Given the description of an element on the screen output the (x, y) to click on. 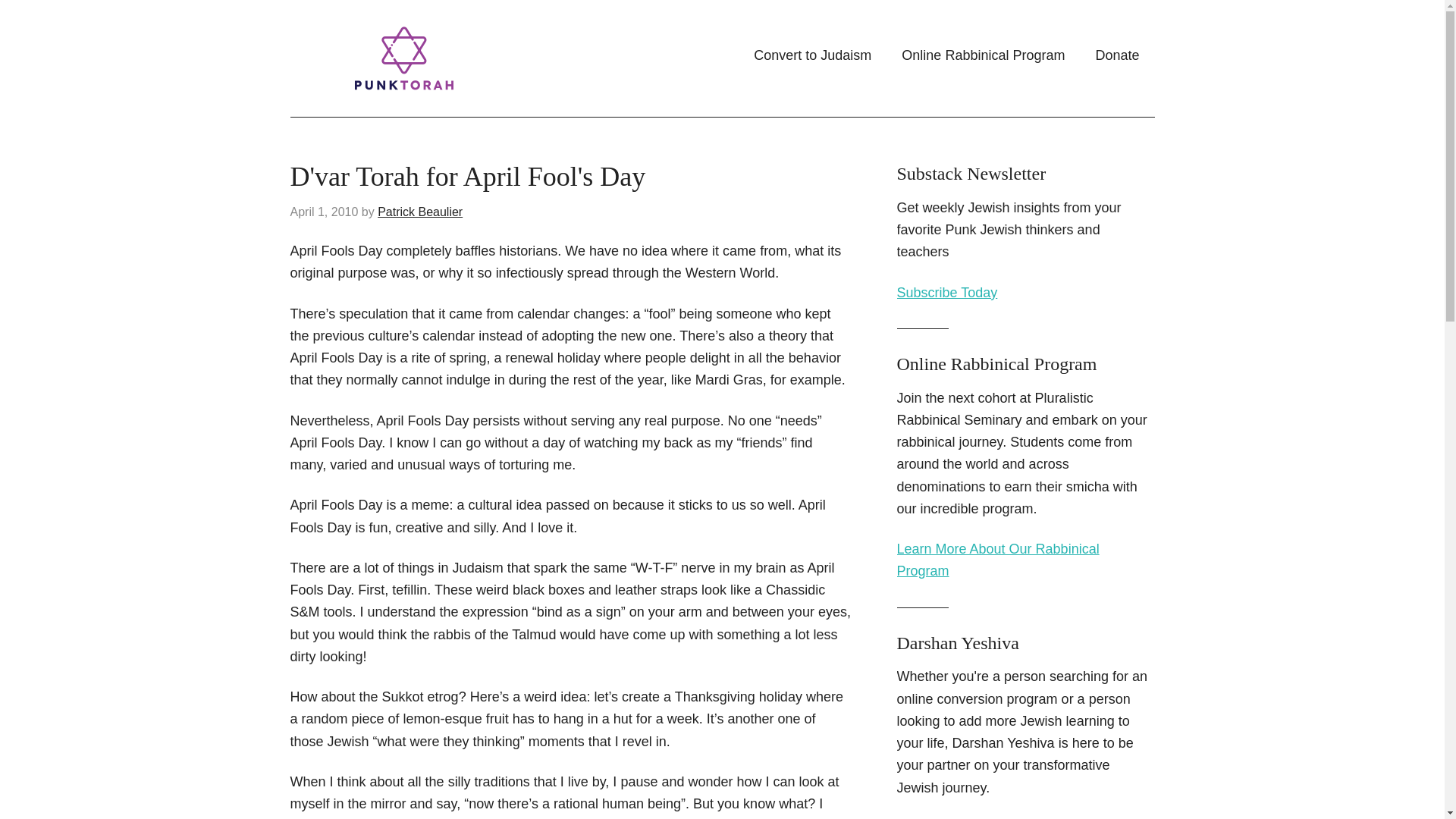
Subscribe Today (946, 292)
Donate (1117, 55)
Convert to Judaism (812, 55)
Online Rabbinical Program (983, 55)
punktorah (440, 58)
Learn More About Our Rabbinical Program (997, 559)
Patrick Beaulier (420, 211)
